Given the description of an element on the screen output the (x, y) to click on. 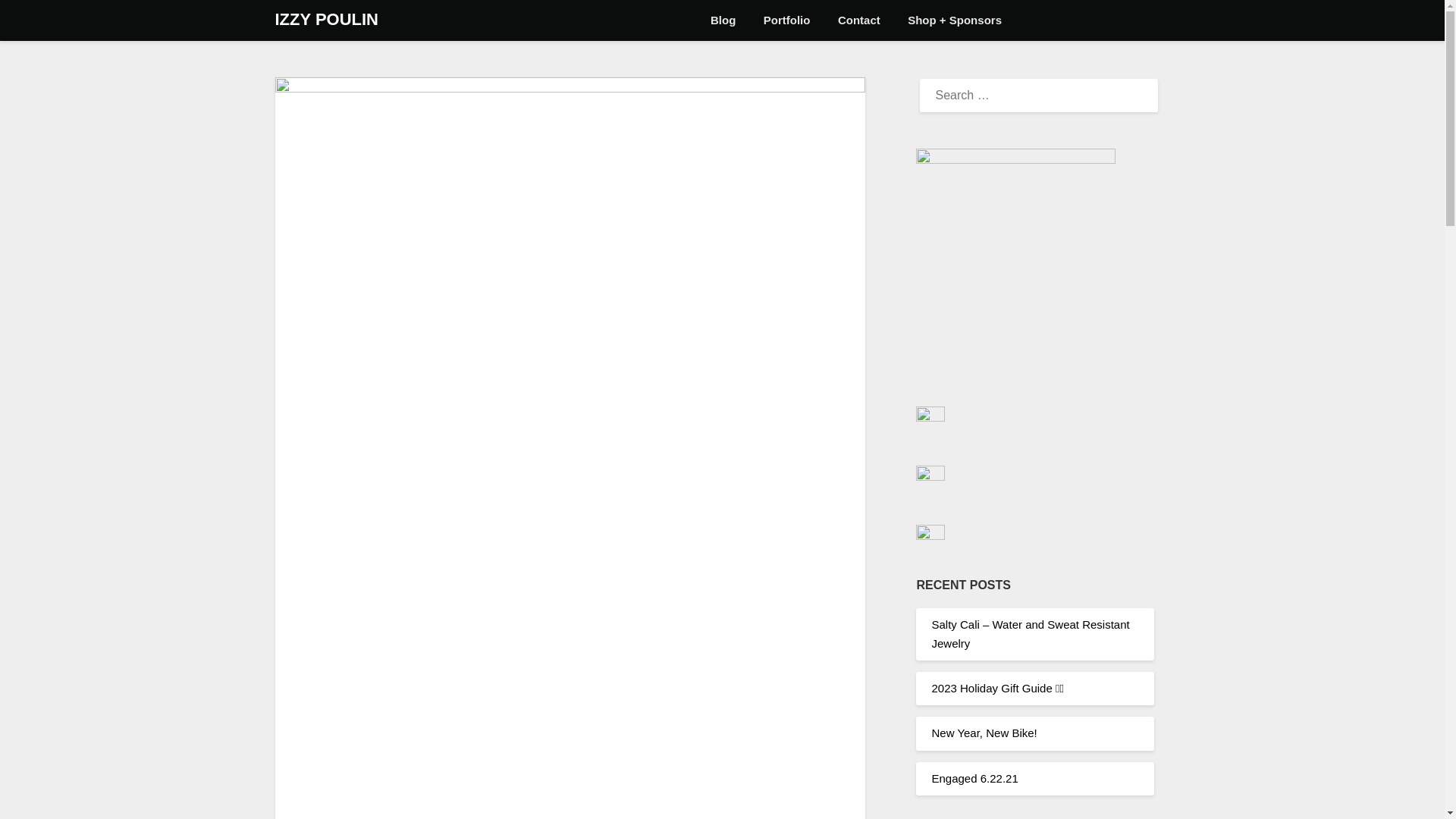
Portfolio (786, 20)
IZZY POULIN (326, 19)
Engaged 6.22.21 (974, 778)
Contact (858, 20)
Search (38, 22)
New Year, New Bike! (983, 732)
Blog (723, 20)
